Given the description of an element on the screen output the (x, y) to click on. 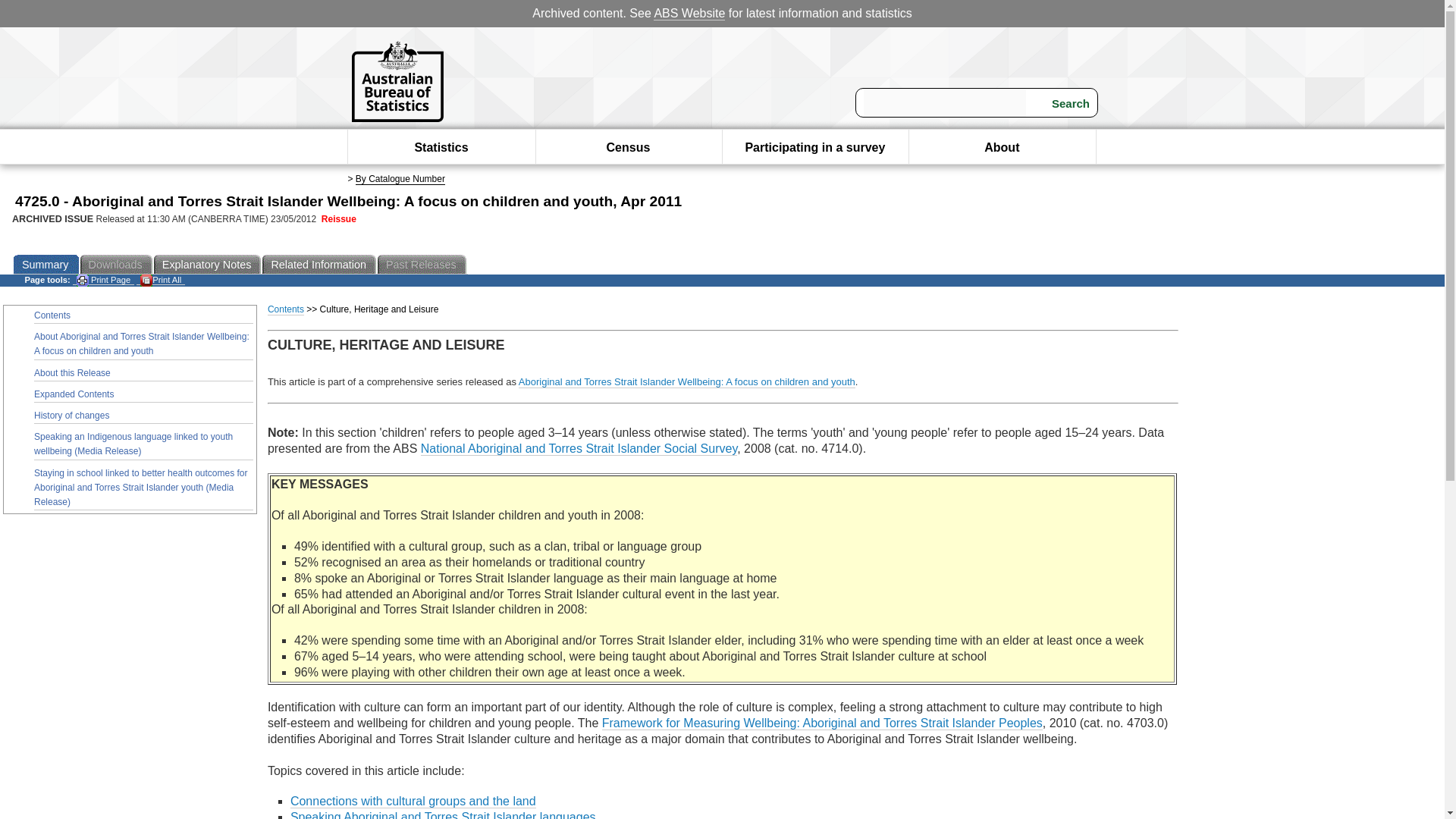
Statistics (440, 147)
Participating in a survey (814, 147)
National Aboriginal and Torres Strait Islander Social Survey (578, 448)
Contents (285, 309)
By Catalogue Number (400, 179)
Census (628, 147)
Downloads (117, 264)
ABS Website (689, 13)
Search (1060, 102)
Search (1060, 102)
Related Information (319, 264)
View by Catalogue (400, 179)
Speaking Aboriginal and Torres Strait Islander languages (442, 814)
